Given the description of an element on the screen output the (x, y) to click on. 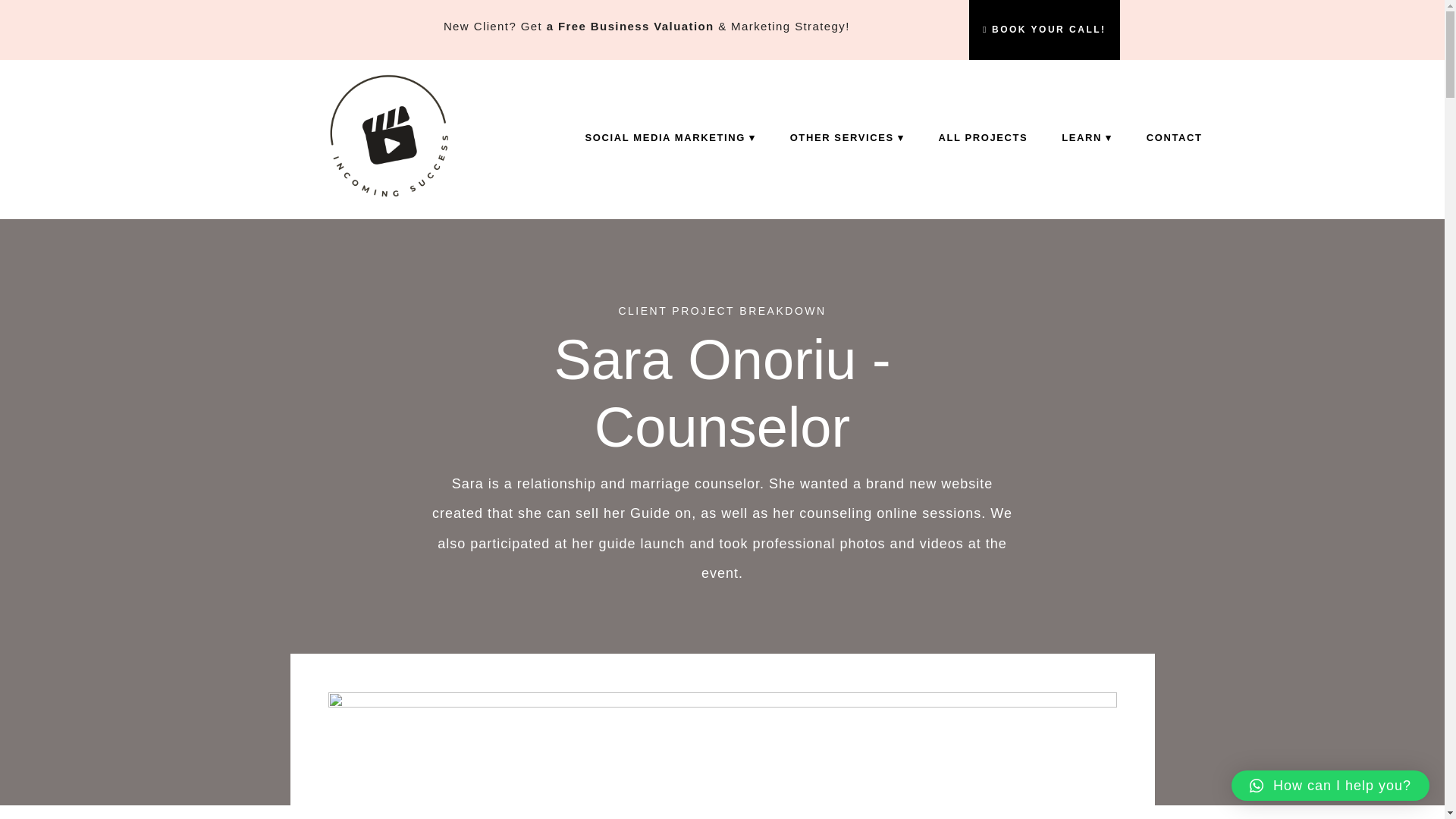
SOCIAL MEDIA MARKETING (670, 137)
ALL PROJECTS (982, 137)
LEARN (1086, 137)
OTHER SERVICES (847, 137)
BOOK YOUR CALL! (1044, 33)
CONTACT (1174, 137)
